Given the description of an element on the screen output the (x, y) to click on. 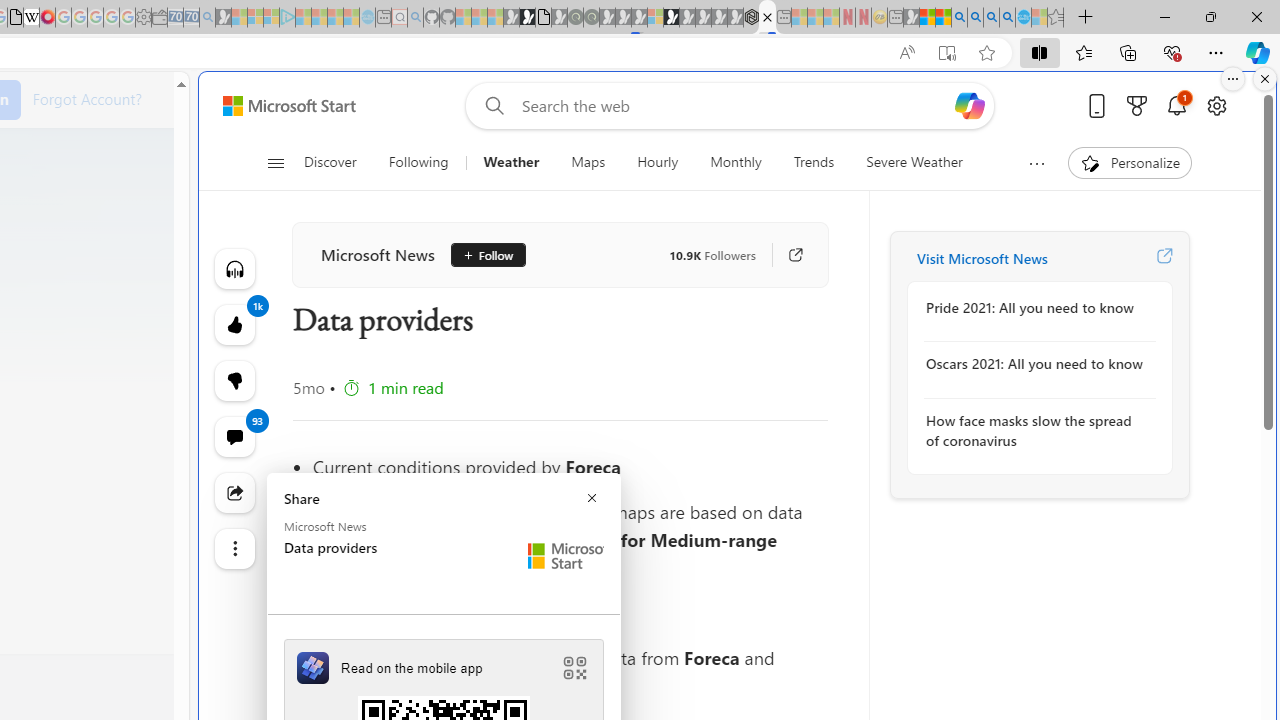
Pride 2021: All you need to know (1034, 308)
More options. (1233, 79)
Forgot Account? (87, 97)
MediaWiki (47, 17)
Maps (587, 162)
How face masks slow the spread of coronavirus (1034, 429)
Maps (588, 162)
